Given the description of an element on the screen output the (x, y) to click on. 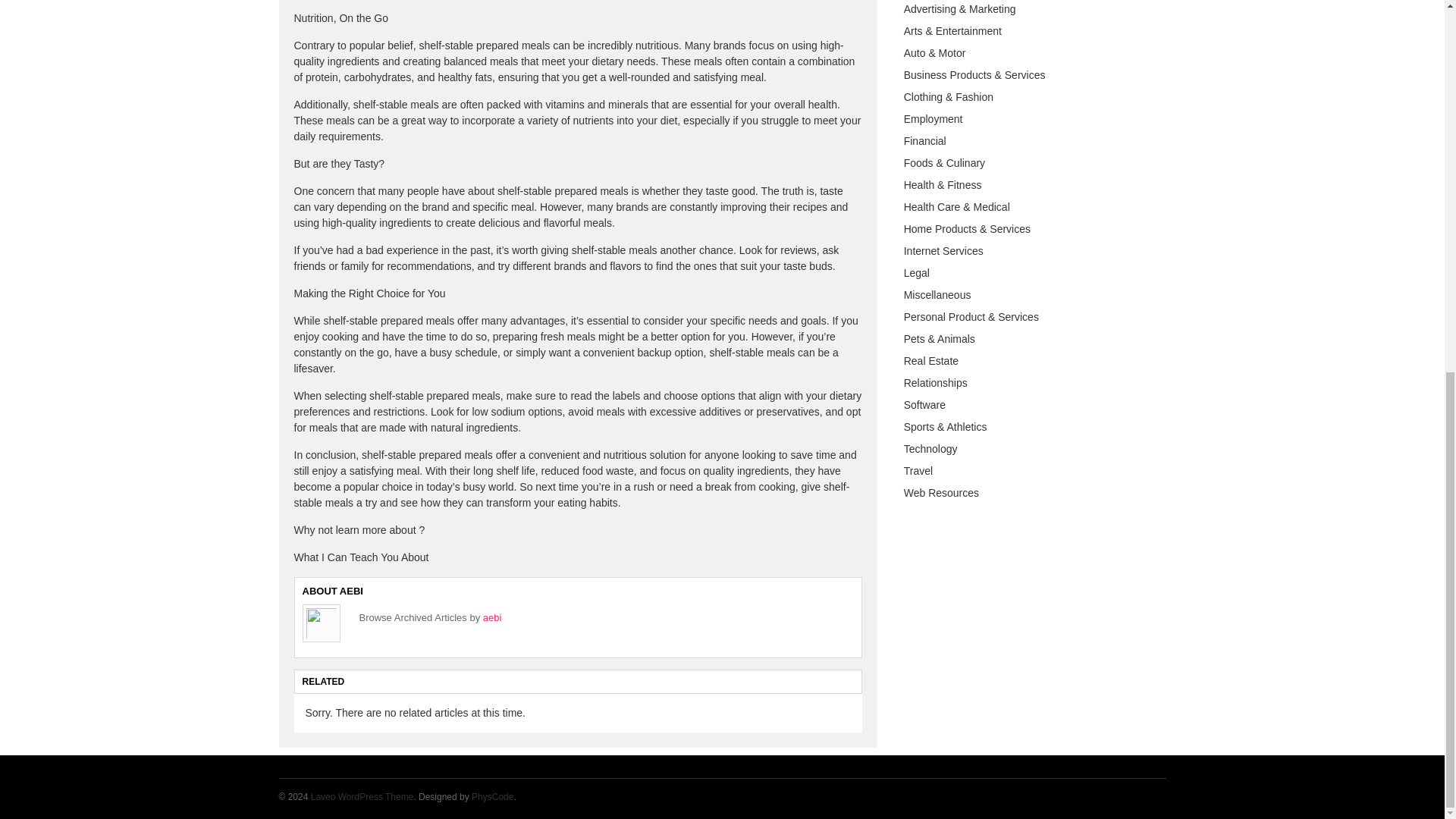
Internet Services (944, 250)
Financial (925, 141)
Relationships (936, 382)
What I Can Teach You About (361, 557)
aebi (492, 617)
Why not learn more about ? (359, 530)
Real Estate (931, 360)
Employment (933, 119)
Miscellaneous (937, 295)
Legal (917, 272)
